Given the description of an element on the screen output the (x, y) to click on. 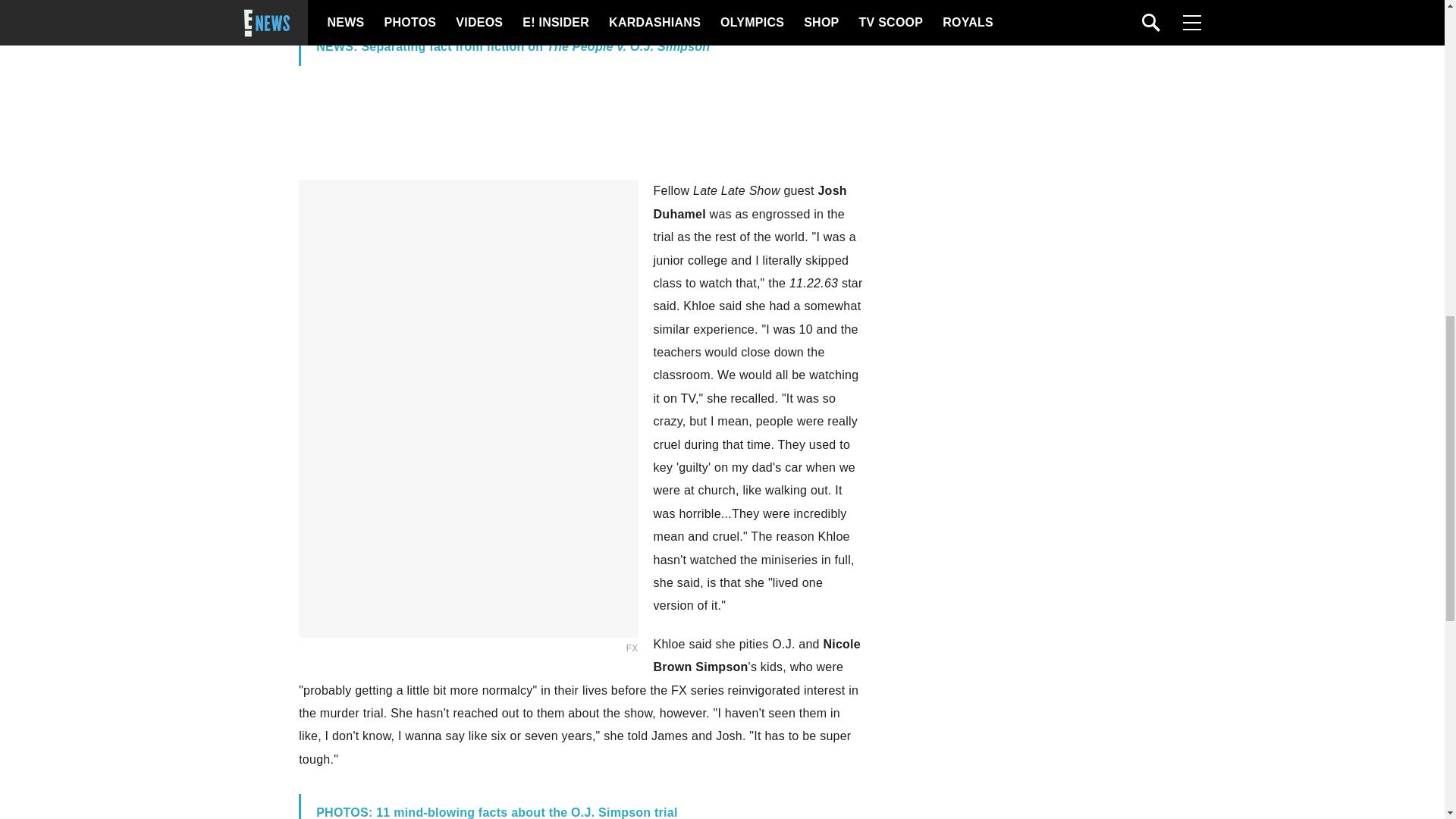
PHOTOS: 11 mind-blowing facts about the O.J. Simpson trial (496, 812)
